Given the description of an element on the screen output the (x, y) to click on. 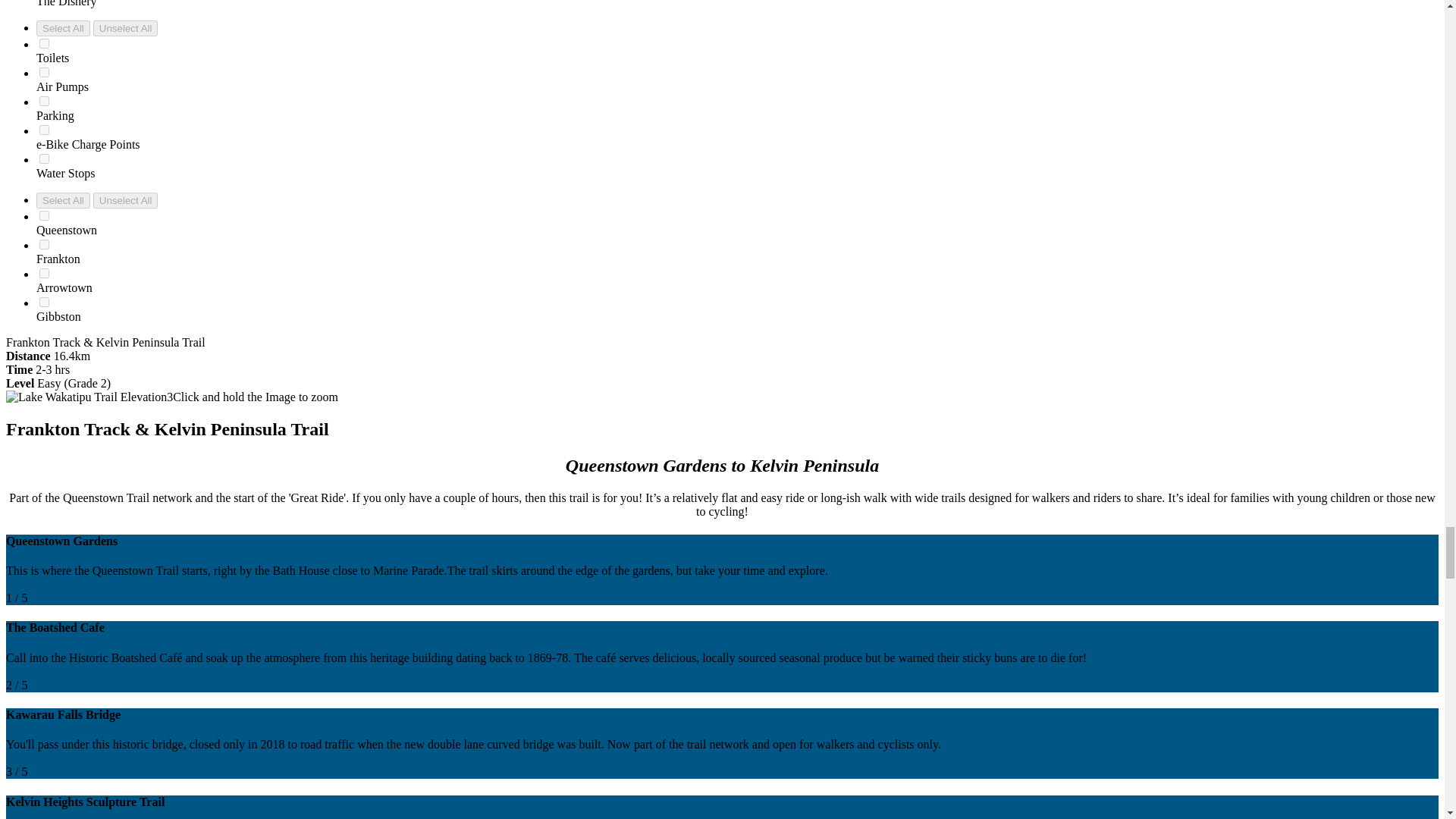
2 (44, 101)
7 (44, 71)
1 (44, 215)
8 (44, 130)
1 (44, 43)
5 (44, 158)
2 (44, 244)
